Given the description of an element on the screen output the (x, y) to click on. 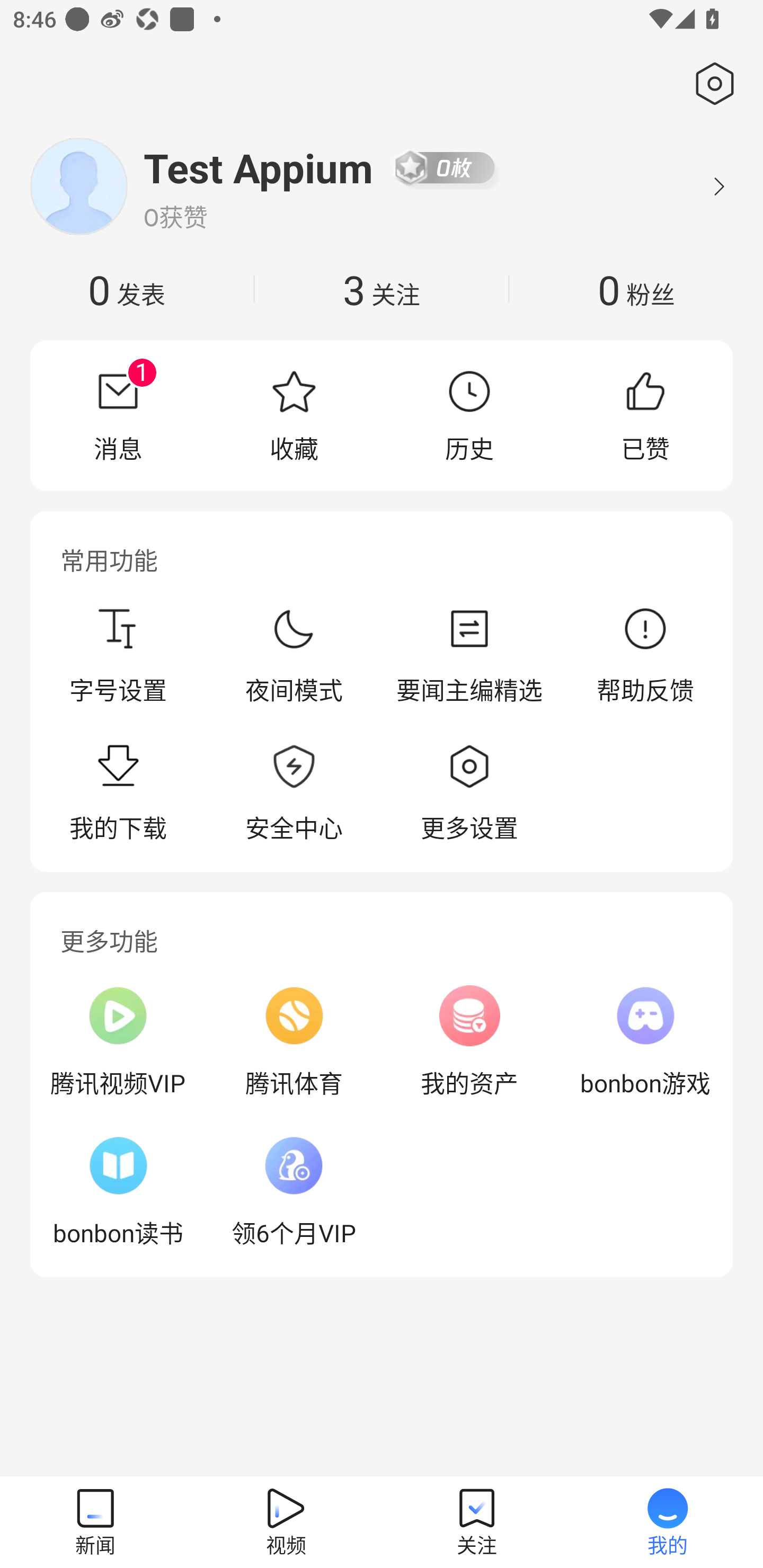
设置，可点击 (711, 83)
头像，可点击 (78, 186)
用户：Test Appium，可点击 (258, 167)
0枚勋章，可点击 (444, 167)
0发表，可点击 (126, 288)
3关注，可点击 (381, 288)
0粉丝，可点击 (636, 288)
消息，可点击 (118, 415)
收藏，可点击 (293, 415)
历史，可点击 (469, 415)
已赞，可点击 (644, 415)
字号设置，可点击 (118, 655)
夜间模式，可点击 (293, 655)
要闻主编精选，可点击 (469, 655)
帮助反馈，可点击 (644, 655)
我的下载，可点击 (118, 793)
安全中心，可点击 (293, 793)
更多设置，可点击 (469, 793)
腾讯视频VIP，可点击 (118, 1041)
腾讯体育，可点击 (293, 1041)
我的资产，可点击 (469, 1041)
bonbon游戏，可点击 (644, 1041)
bonbon读书，可点击 (118, 1191)
领6个月VIP，可点击 (293, 1191)
